Given the description of an element on the screen output the (x, y) to click on. 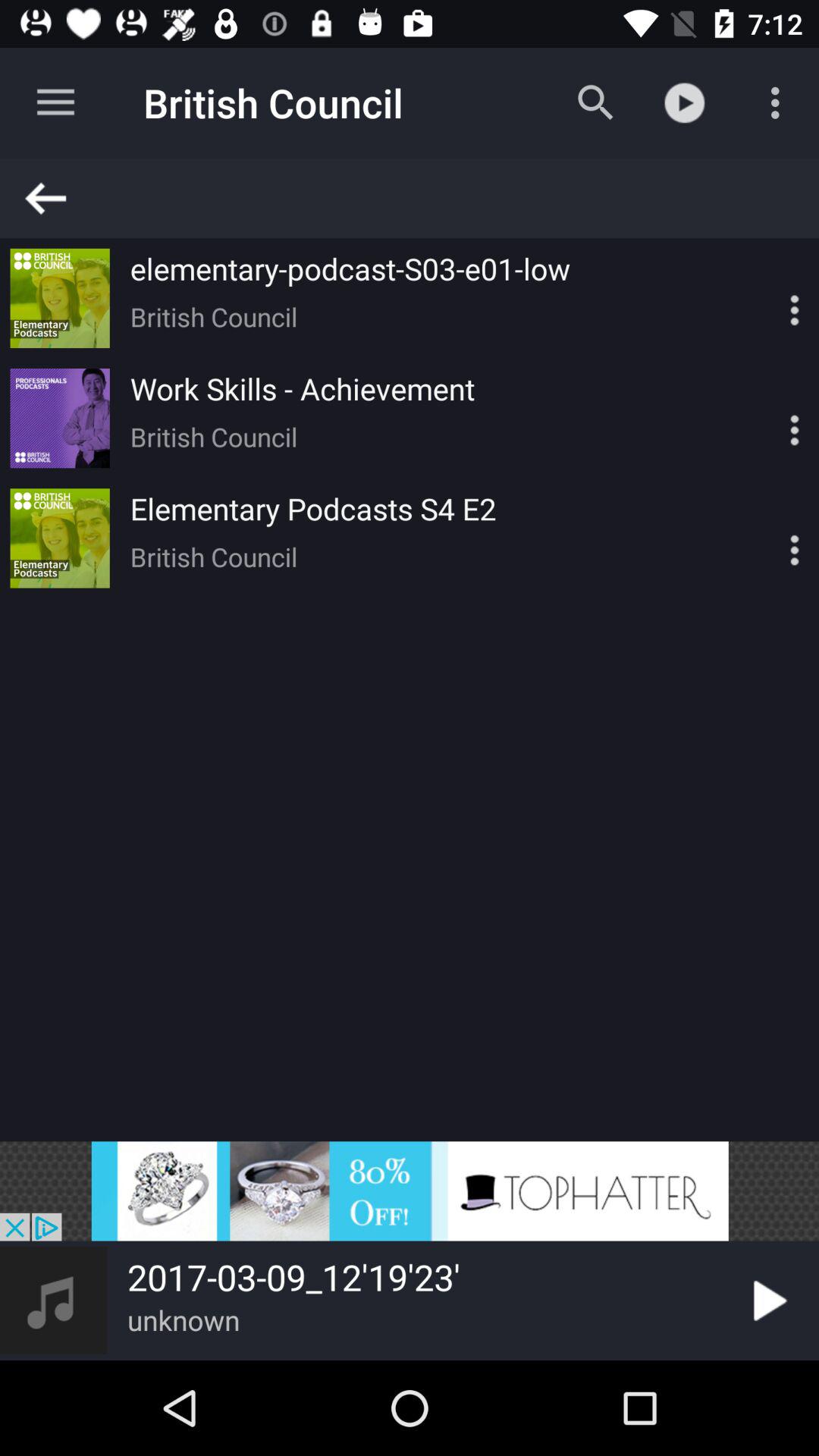
menu icon (768, 538)
